Given the description of an element on the screen output the (x, y) to click on. 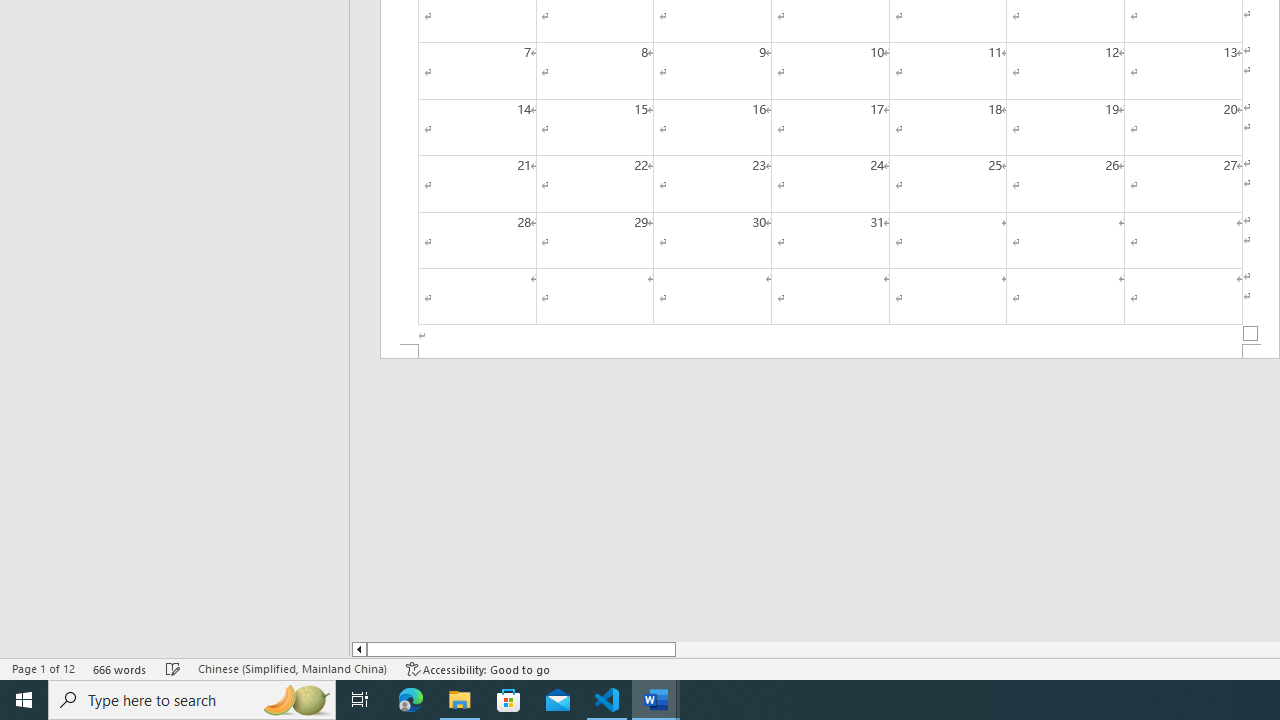
Page Number Page 1 of 12 (43, 668)
Column left (358, 649)
